Given the description of an element on the screen output the (x, y) to click on. 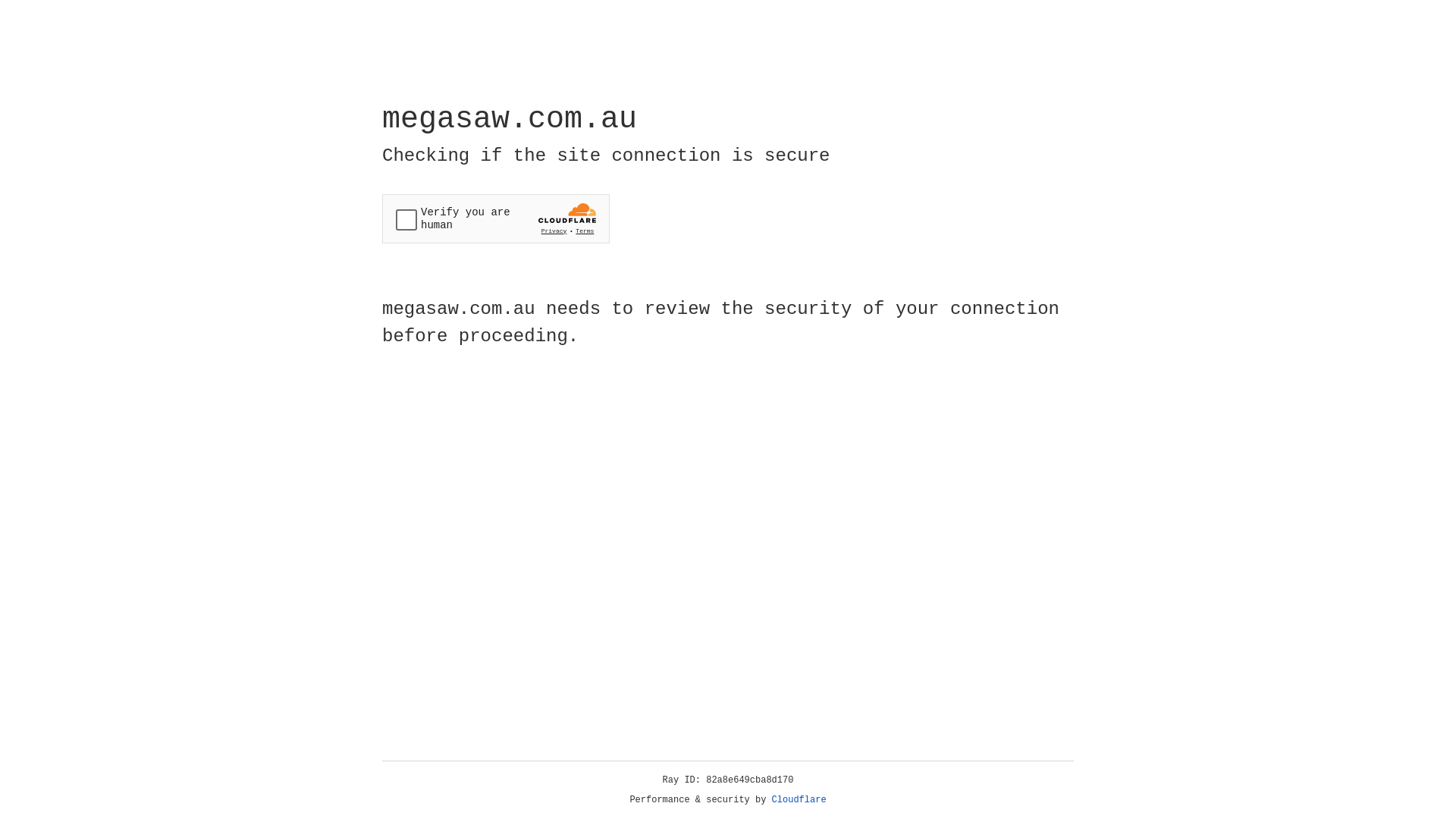
Widget containing a Cloudflare security challenge Element type: hover (495, 218)
Cloudflare Element type: text (798, 799)
